Given the description of an element on the screen output the (x, y) to click on. 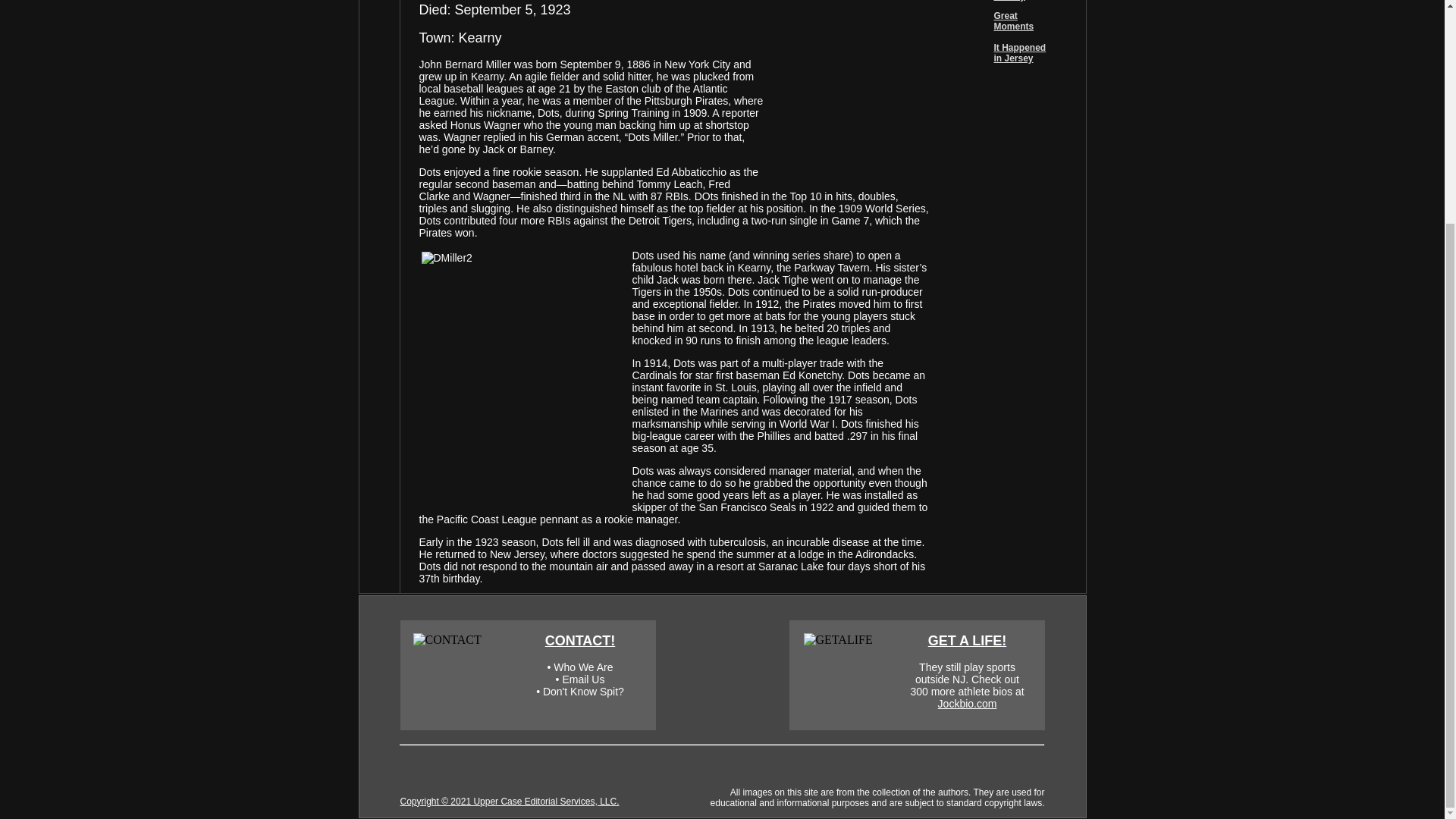
NJ Baseball History (1018, 0)
GET A LIFE! (967, 640)
Great Moments (1012, 20)
It Happened in Jersey (1018, 52)
Jockbio.com (967, 703)
CONTACT! (579, 640)
